Given the description of an element on the screen output the (x, y) to click on. 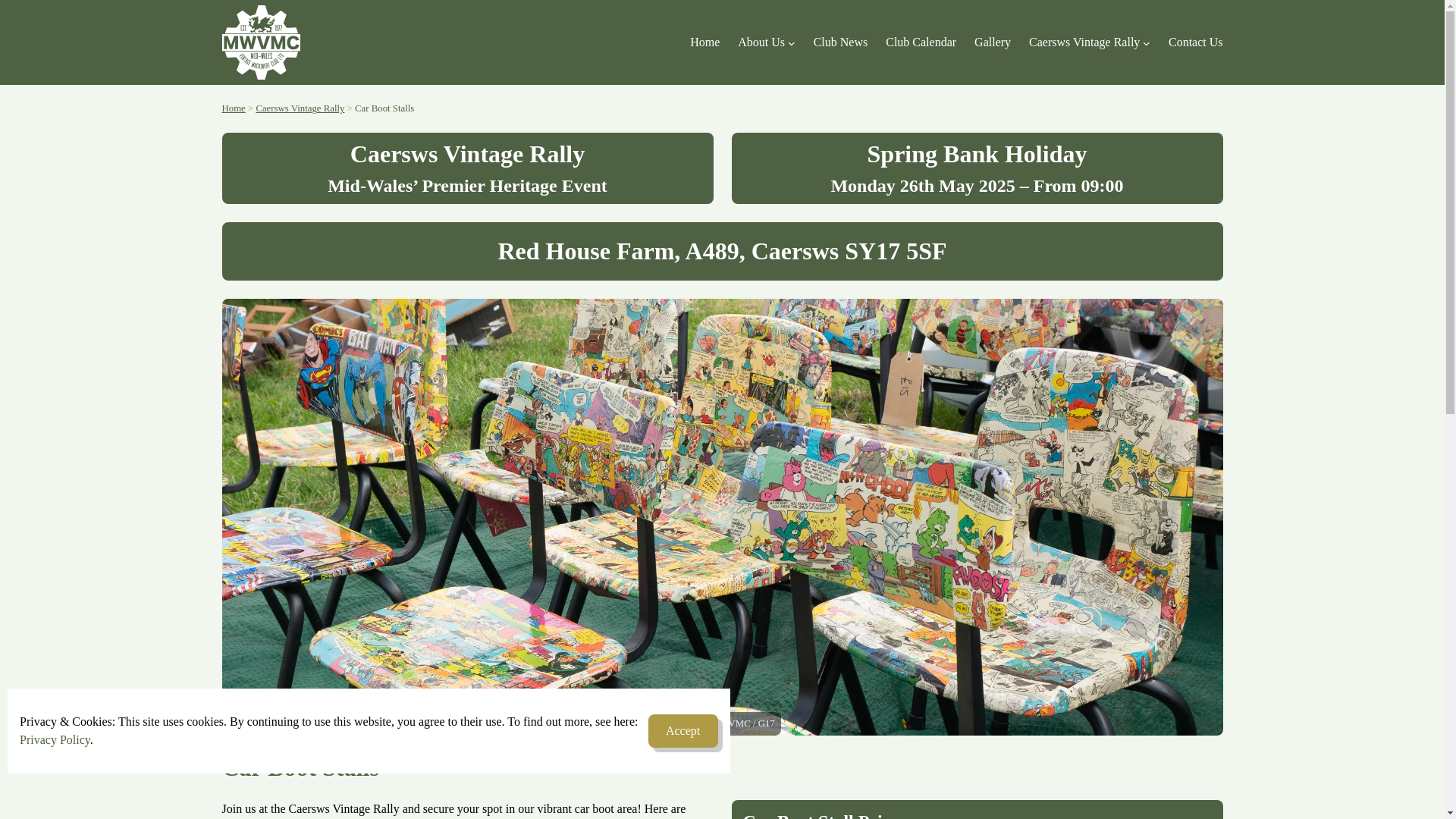
Gallery (992, 42)
Caersws Vintage Rally (299, 108)
Go to Mid-Wales Vintage Machinery Club. (232, 108)
Go to Caersws Vintage Rally. (299, 108)
Caersws Vintage Rally (1084, 42)
Club Calendar (920, 42)
Home (232, 108)
Home (704, 42)
Contact Us (1196, 42)
Club News (840, 42)
About Us (761, 42)
